Given the description of an element on the screen output the (x, y) to click on. 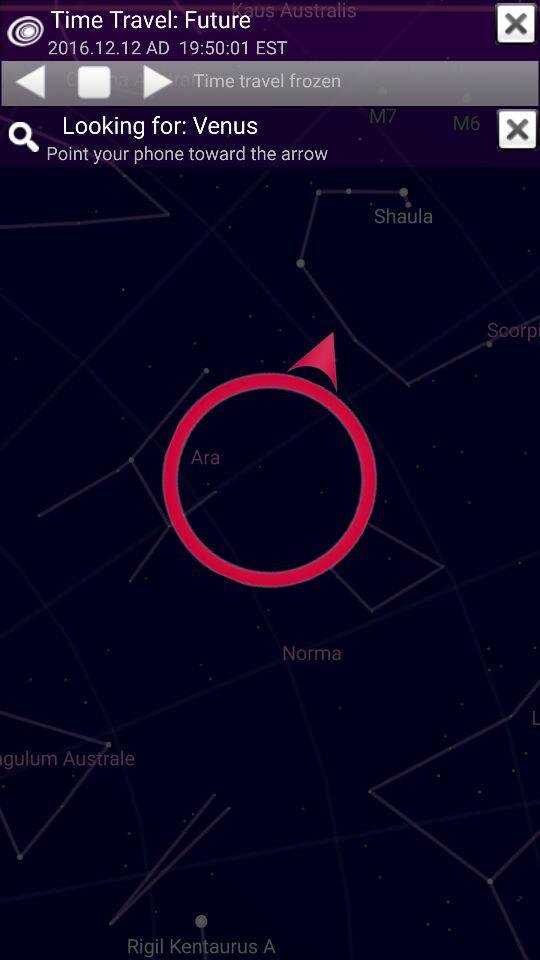
close this window (517, 129)
